Given the description of an element on the screen output the (x, y) to click on. 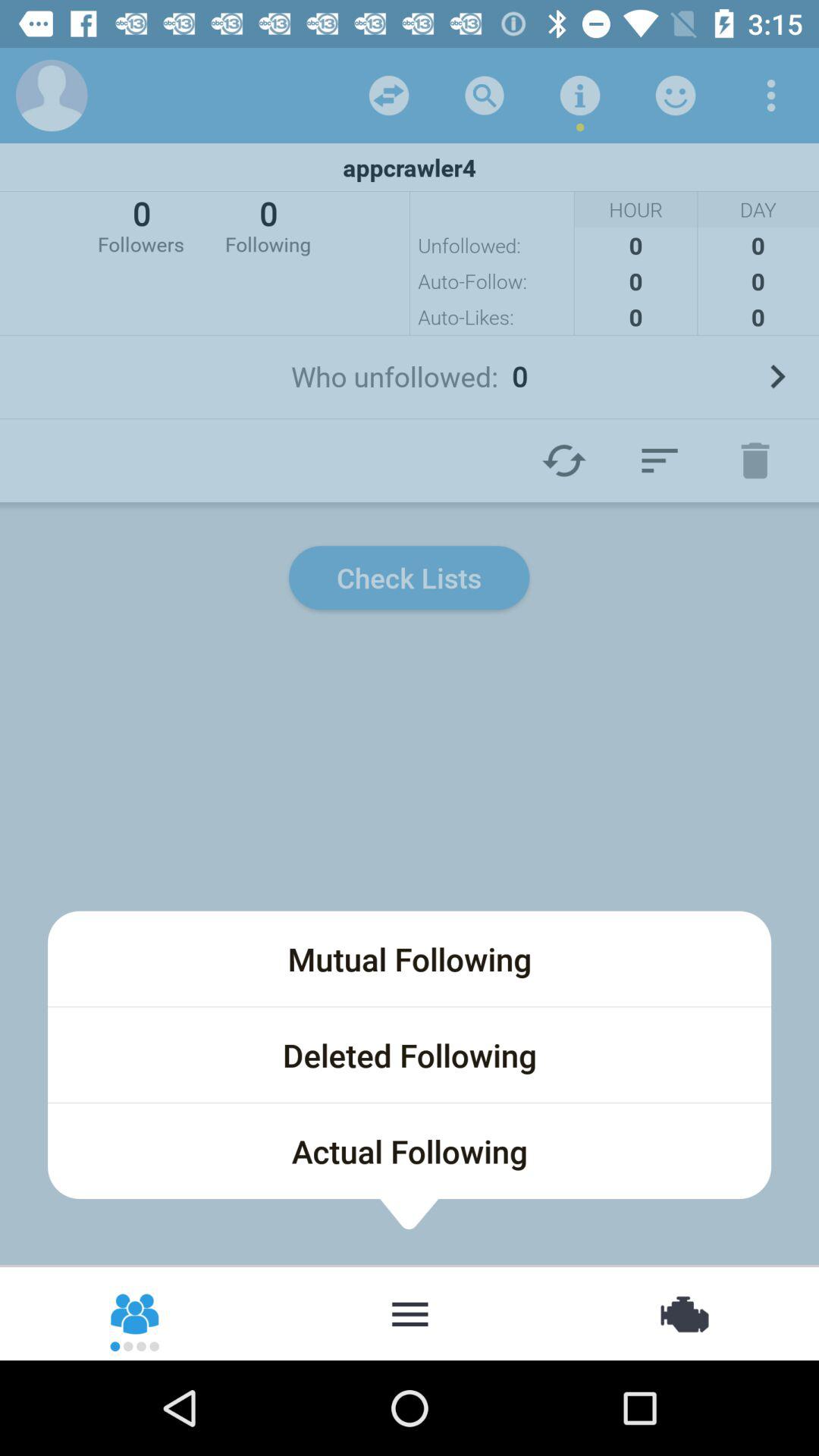
open item below appcrawler4 (268, 224)
